Given the description of an element on the screen output the (x, y) to click on. 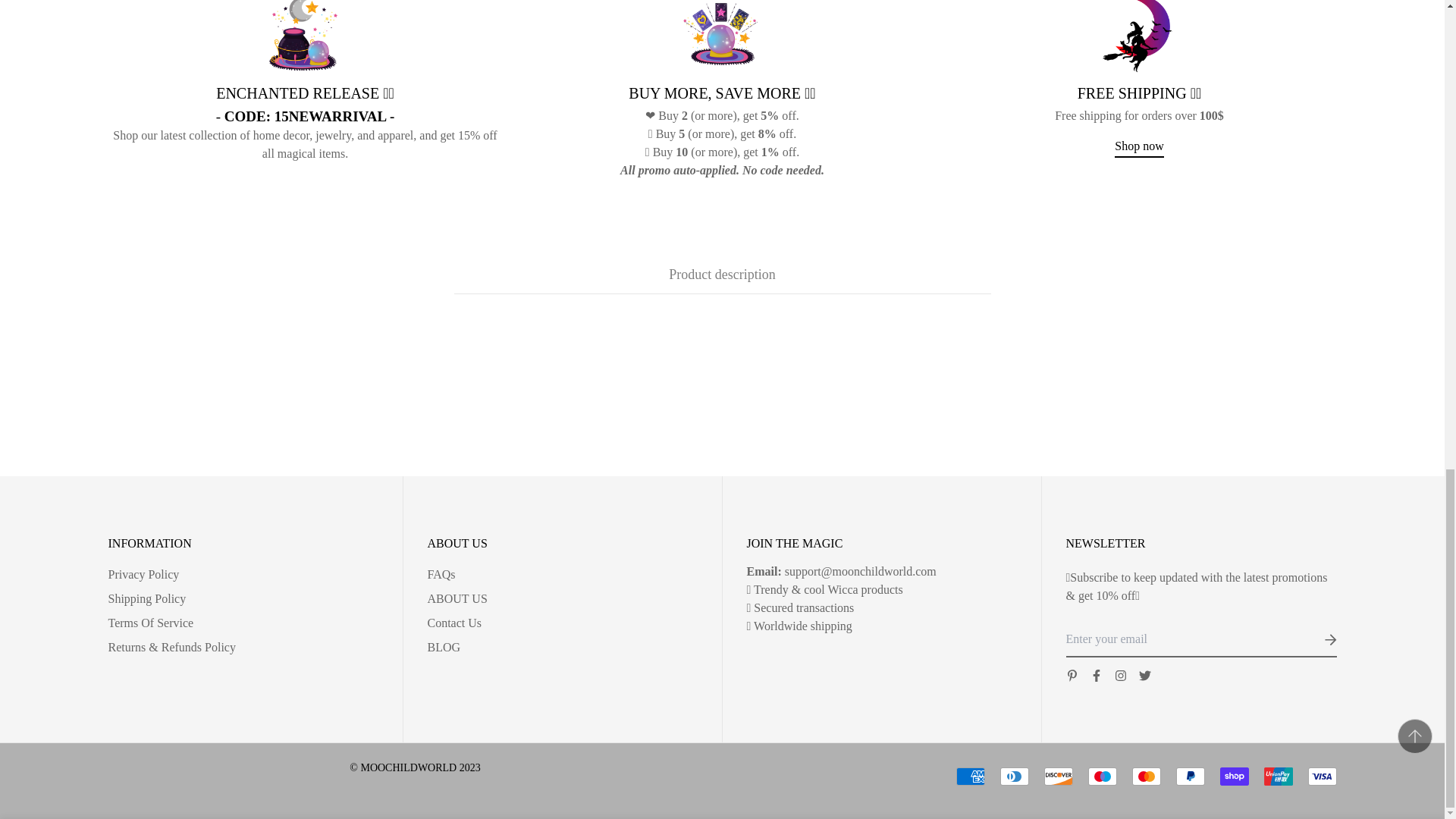
Customer reviews powered by Trustpilot (414, 785)
NEWEST PRODUCTS (304, 116)
